Given the description of an element on the screen output the (x, y) to click on. 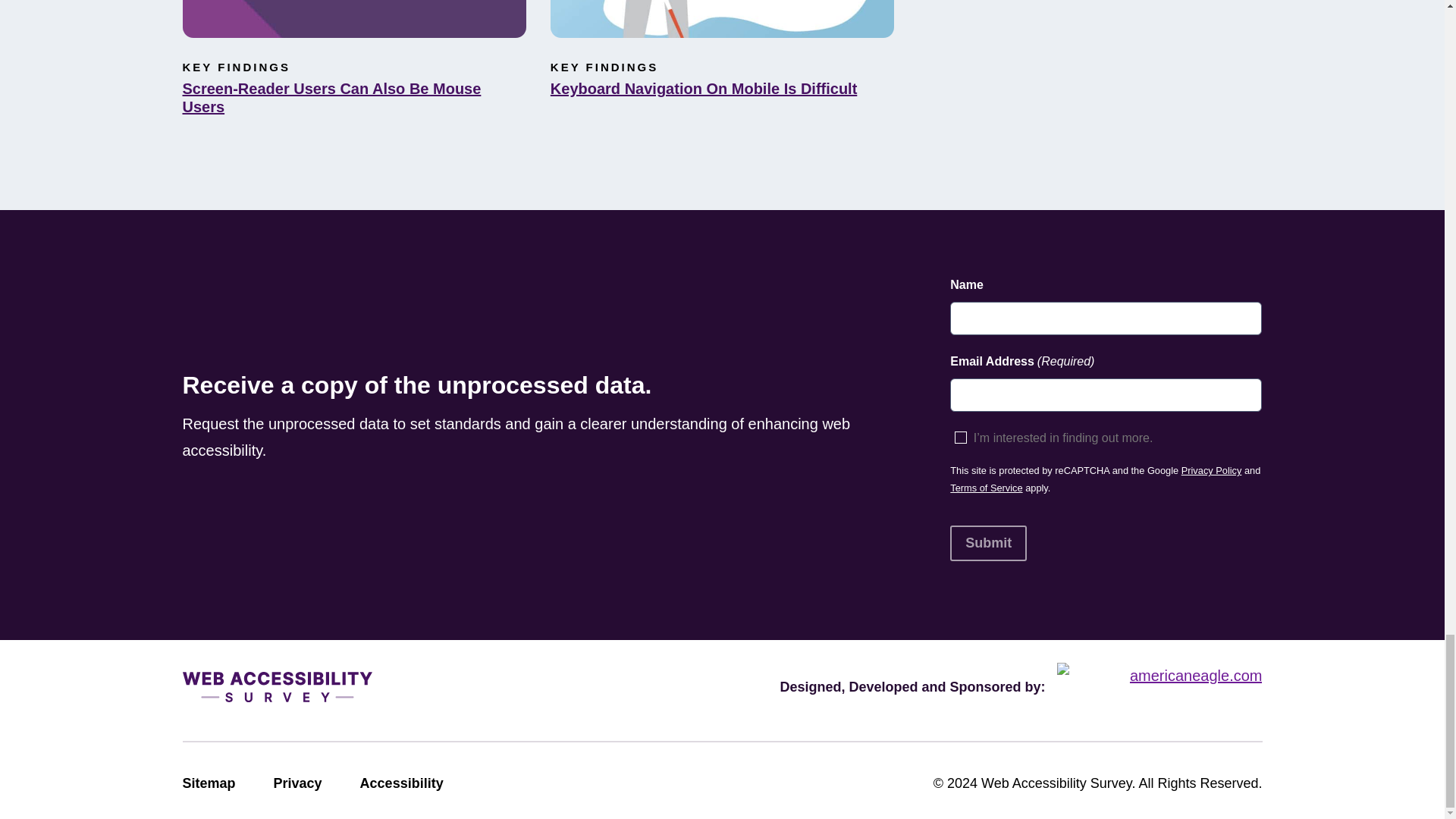
Submit (988, 543)
Screen-Reader Users Can Also Be Mouse Users (353, 97)
Accessibility (401, 784)
Privacy (297, 784)
Privacy Policy (1210, 470)
Keyboard Navigation On Mobile Is Difficult (721, 88)
Submit (988, 543)
Sitemap (208, 784)
KEY FINDINGS (604, 66)
KEY FINDINGS (235, 66)
